Given the description of an element on the screen output the (x, y) to click on. 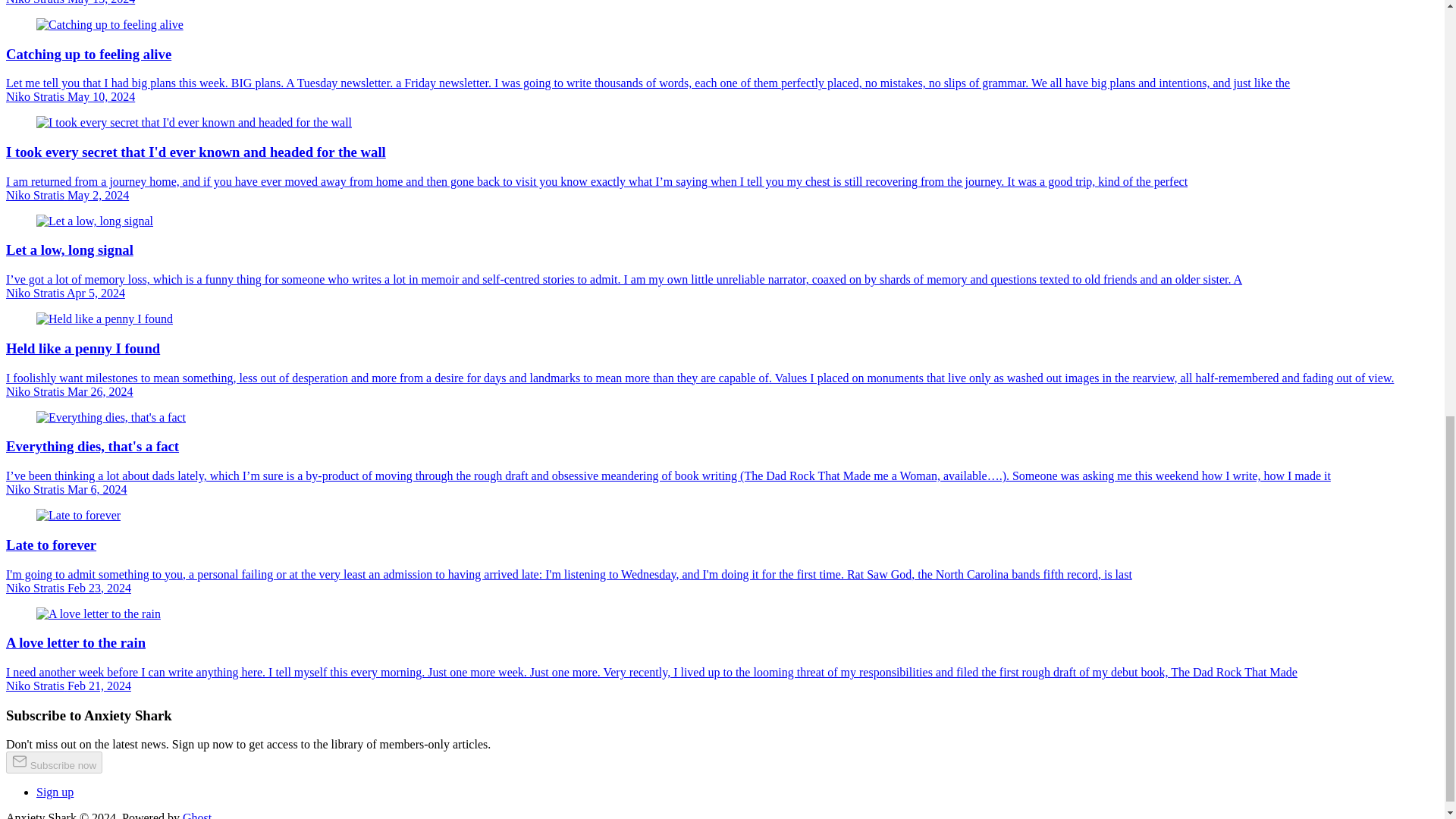
Subscribe now (53, 762)
Sign up (55, 791)
